Given the description of an element on the screen output the (x, y) to click on. 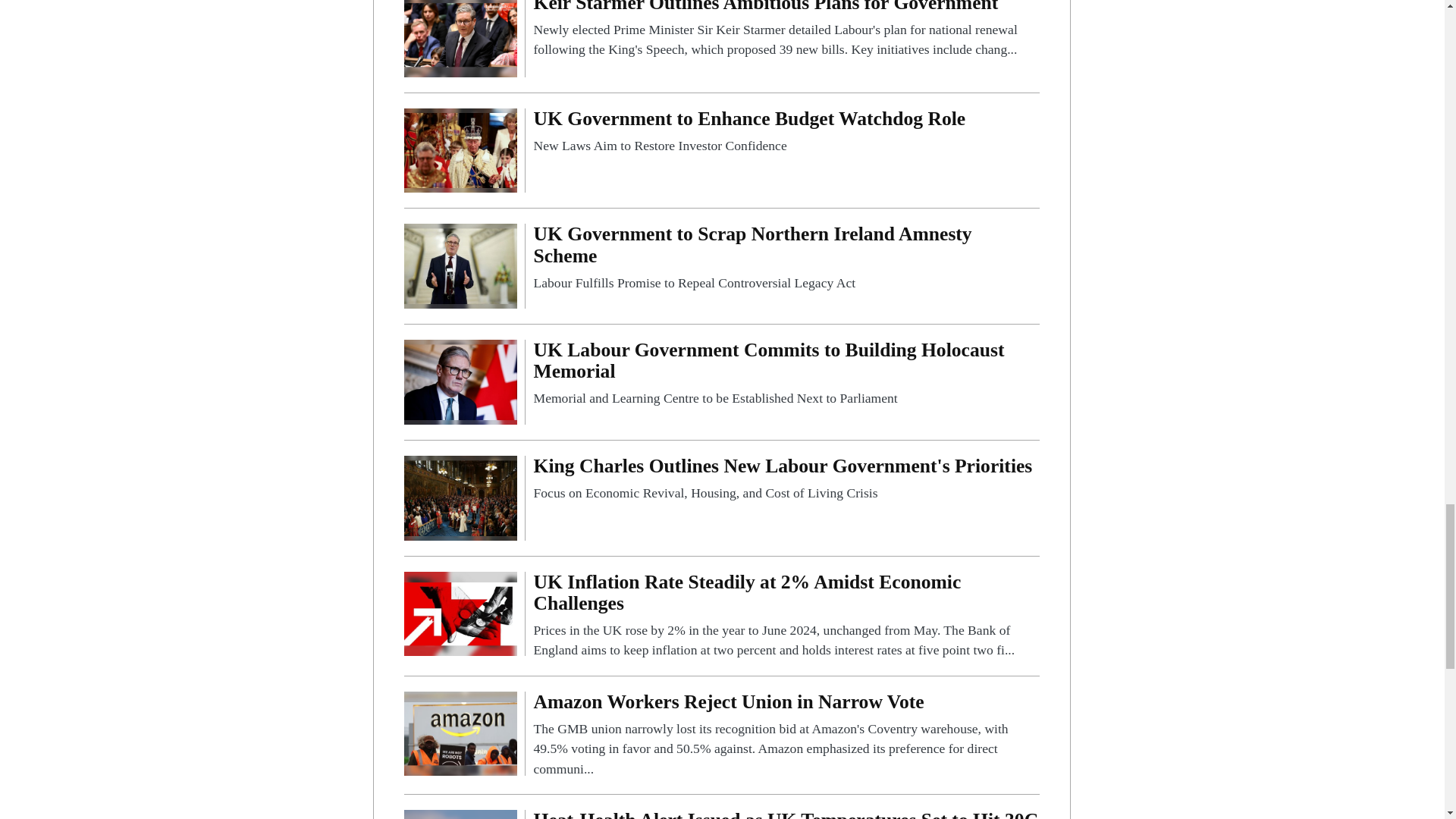
Keir Starmer Outlines Ambitious Plans for Government (460, 33)
Amazon Workers Reject Union in Narrow Vote (785, 734)
Amazon Workers Reject Union in Narrow Vote (460, 732)
King Charles Outlines New Labour Government's Priorities (785, 479)
UK Government to Scrap Northern Ireland Amnesty Scheme (460, 265)
Heat-Health Alert Issued as UK Temperatures Set to Hit 30C (785, 814)
King Charles Outlines New Labour Government's Priorities (460, 496)
Keir Starmer Outlines Ambitious Plans for Government (785, 29)
UK Labour Government Commits to Building Holocaust Memorial (460, 380)
UK Government to Enhance Budget Watchdog Role (460, 149)
UK Government to Enhance Budget Watchdog Role (785, 132)
UK Labour Government Commits to Building Holocaust Memorial (785, 373)
